Given the description of an element on the screen output the (x, y) to click on. 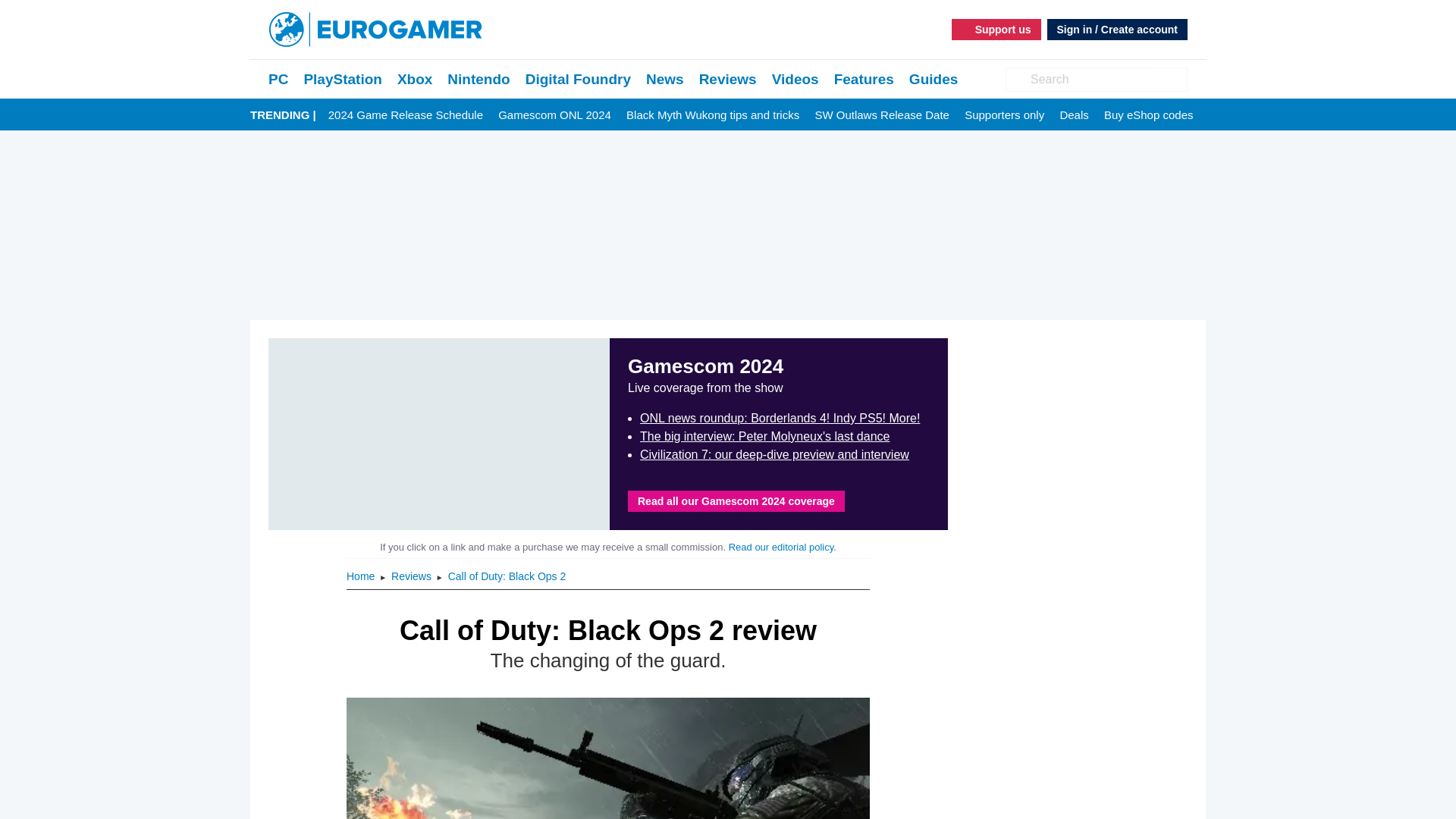
Guides (933, 78)
Civilization 7: our deep-dive preview and interview (774, 454)
Xbox (414, 78)
Black Myth Wukong tips and tricks (712, 114)
Digital Foundry (577, 78)
Read all our Gamescom 2024 coverage (735, 500)
2024 Game Release Schedule (406, 114)
Videos (794, 78)
Videos (794, 78)
Support us (996, 29)
